Given the description of an element on the screen output the (x, y) to click on. 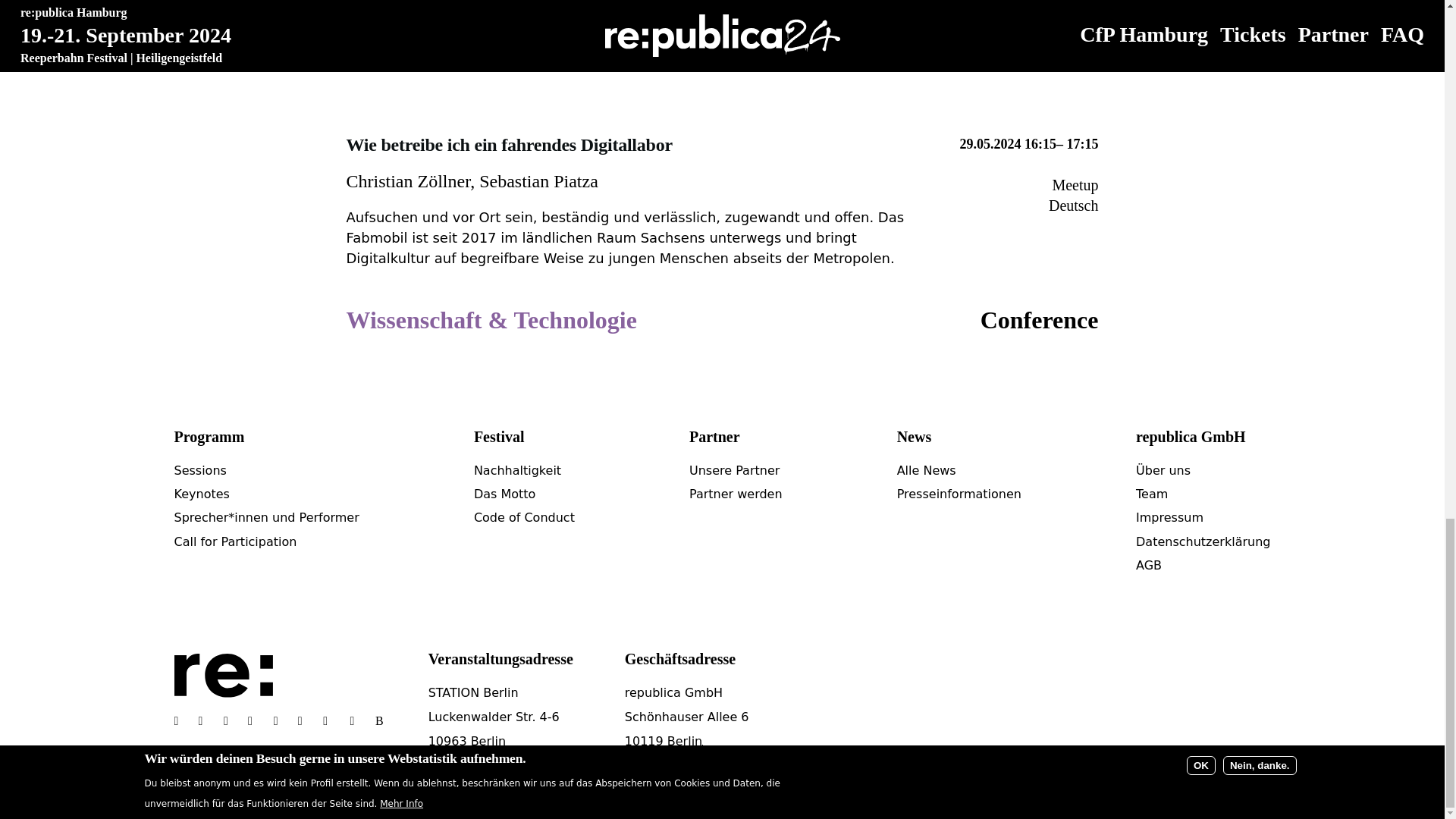
Unsere Partner (733, 470)
Wie betreibe ich ein fahrendes Digitallabor (508, 146)
Partner werden (735, 493)
Presseinformationen (959, 493)
Das Motto (504, 493)
Keynotes (202, 493)
Sebastian Piatza (538, 180)
Call for Participation (235, 541)
Nachhaltigkeit (517, 470)
Sessions (200, 470)
Alle News (926, 470)
Code of Conduct (524, 517)
